Given the description of an element on the screen output the (x, y) to click on. 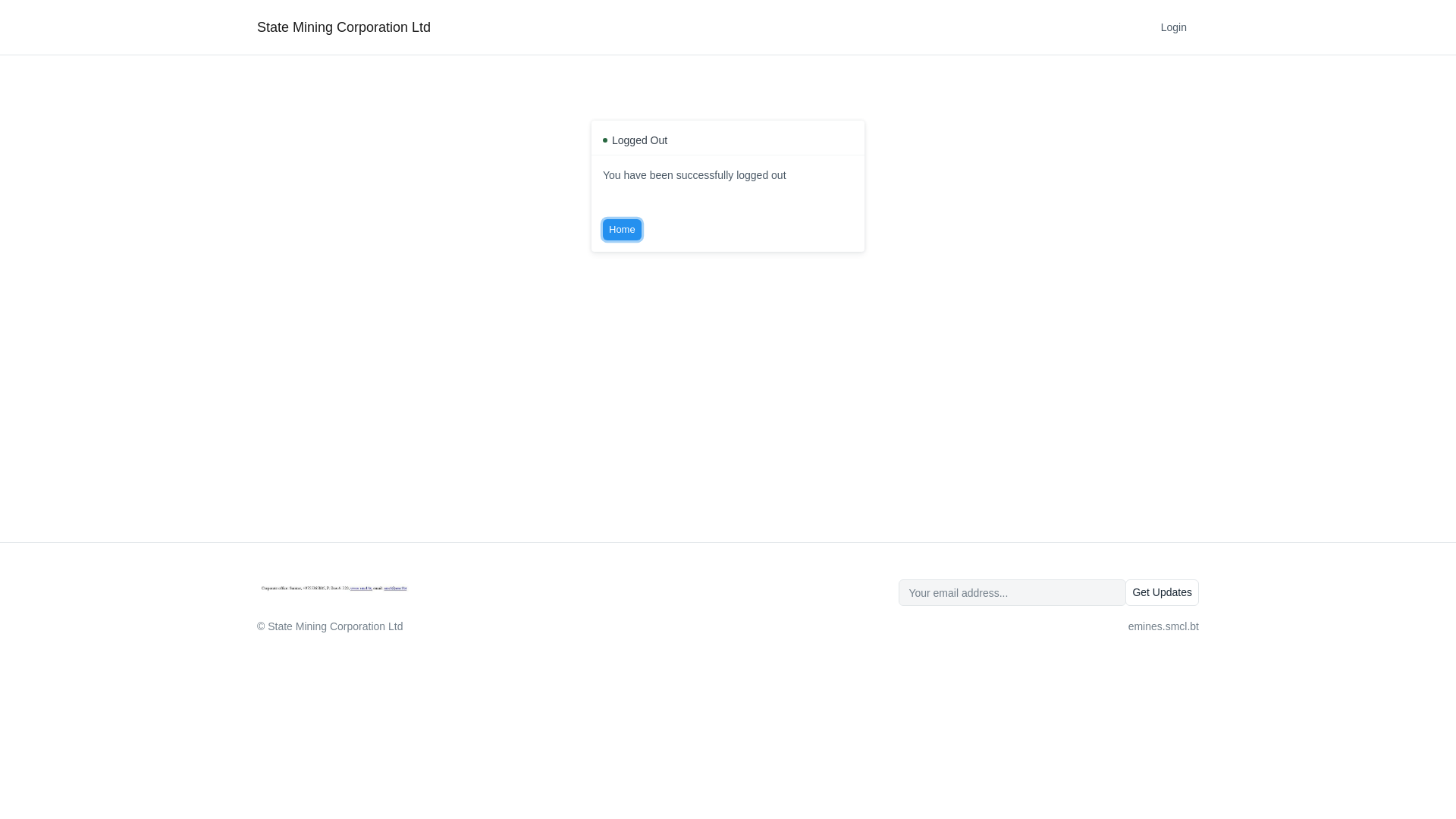
Home Element type: text (621, 229)
Get Updates Element type: text (1161, 592)
State Mining Corporation Ltd Element type: text (343, 27)
Login Element type: text (1173, 27)
